Given the description of an element on the screen output the (x, y) to click on. 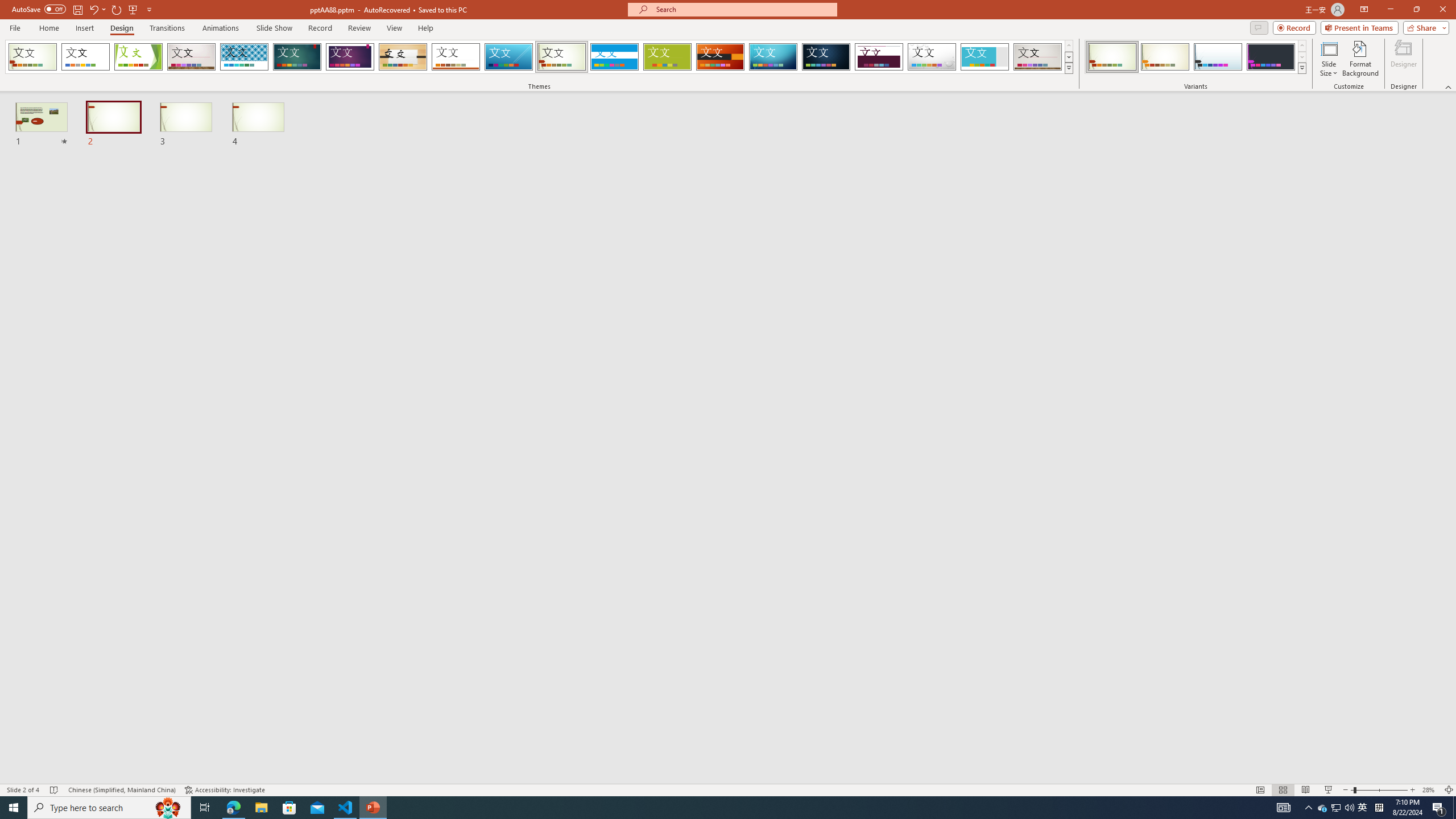
Slide Size (1328, 58)
Ion Loading Preview... (296, 56)
Berlin Loading Preview... (720, 56)
Damask Loading Preview... (826, 56)
Wisp Loading Preview... (561, 56)
LimelightVTI (32, 56)
Variants (1301, 67)
Retrospect Loading Preview... (455, 56)
